Given the description of an element on the screen output the (x, y) to click on. 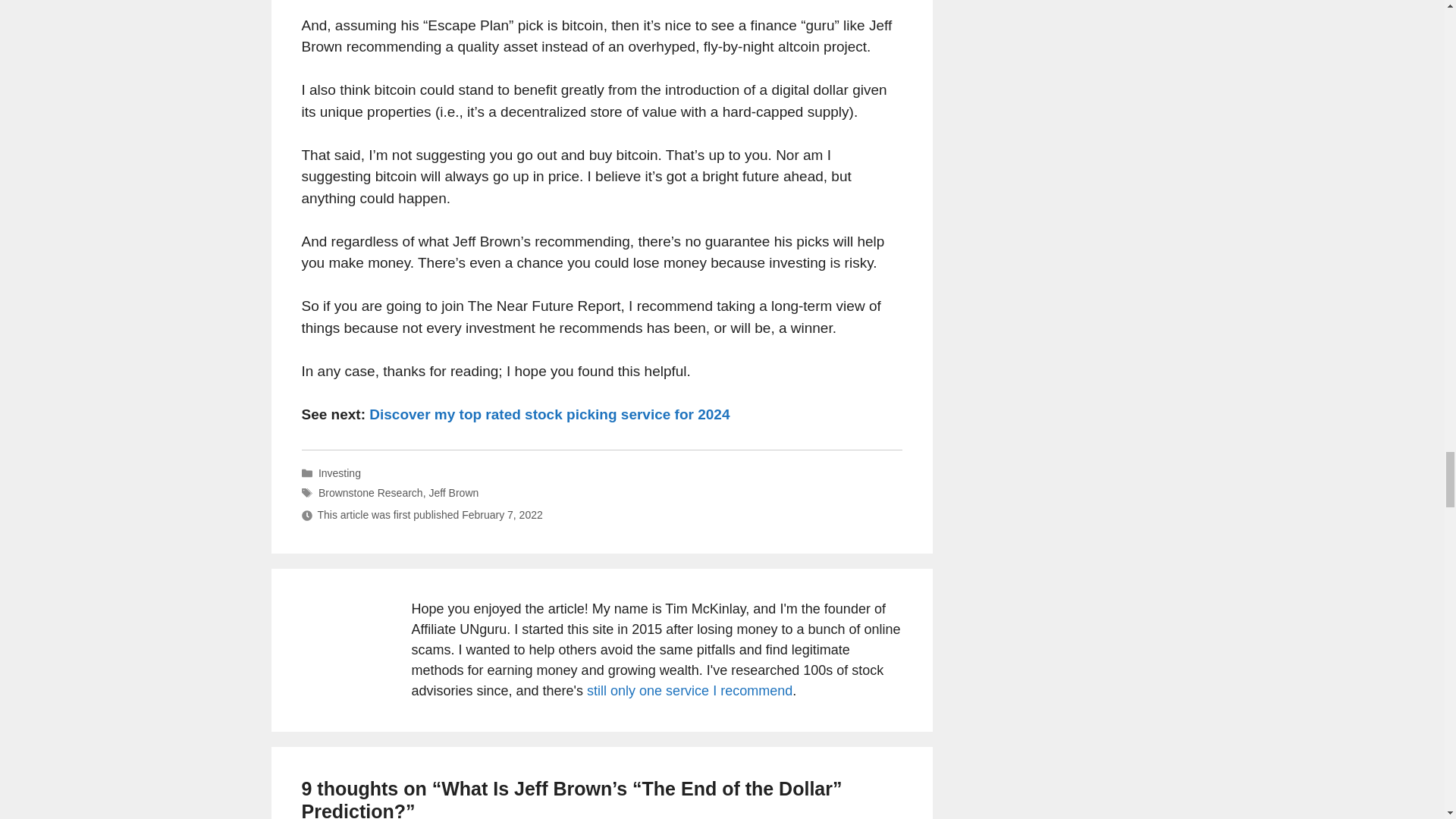
Discover my top rated stock picking service for 2024 (549, 414)
still only one service I recommend (689, 690)
Jeff Brown (453, 492)
Investing (339, 472)
Brownstone Research (370, 492)
